Given the description of an element on the screen output the (x, y) to click on. 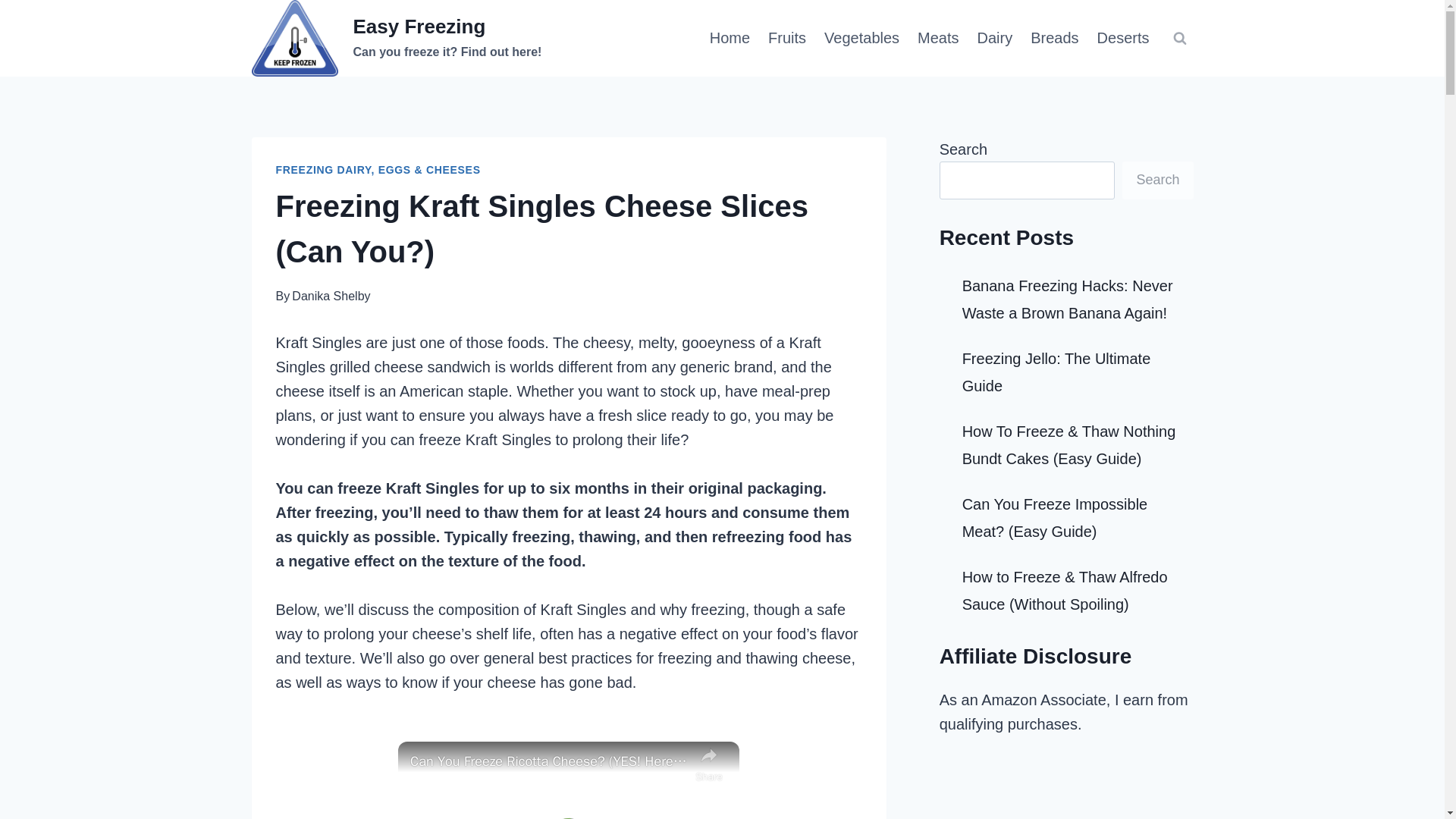
Deserts (1122, 37)
Dairy (995, 37)
Danika Shelby (330, 295)
Breads (396, 38)
Meats (1054, 37)
Fruits (938, 37)
Home (786, 37)
Vegetables (729, 37)
